Given the description of an element on the screen output the (x, y) to click on. 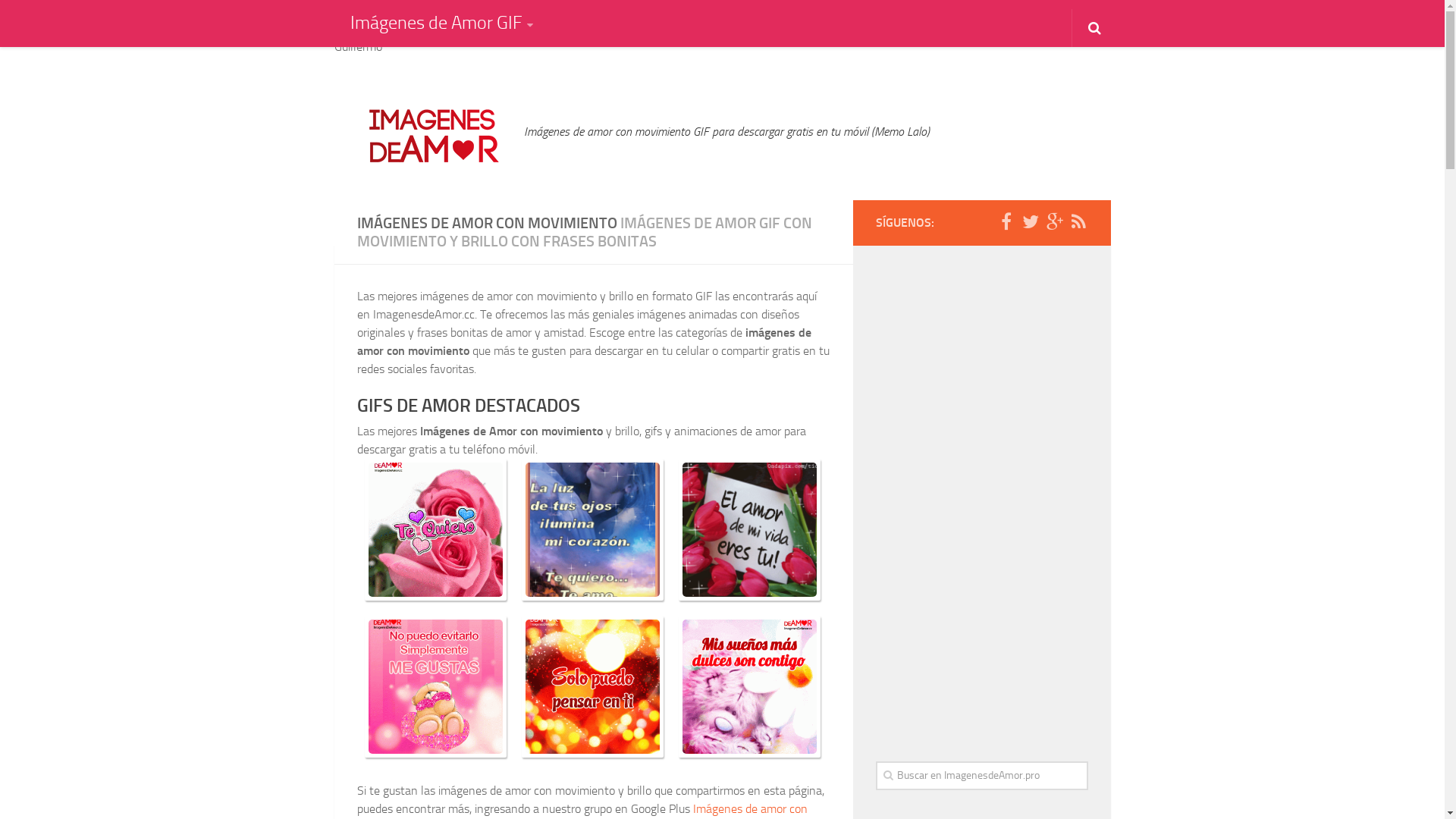
Te quiero Element type: hover (435, 529)
Feed RSS Element type: hover (1078, 222)
Facebook Element type: hover (1005, 222)
Advertisement Element type: hover (981, 495)
Solo puedo pensar en ti Element type: hover (592, 686)
Google Plus Element type: hover (1053, 222)
No puedo evitarlo, simplemente me gustas. Element type: hover (435, 686)
Twitter Element type: hover (1029, 222)
